Given the description of an element on the screen output the (x, y) to click on. 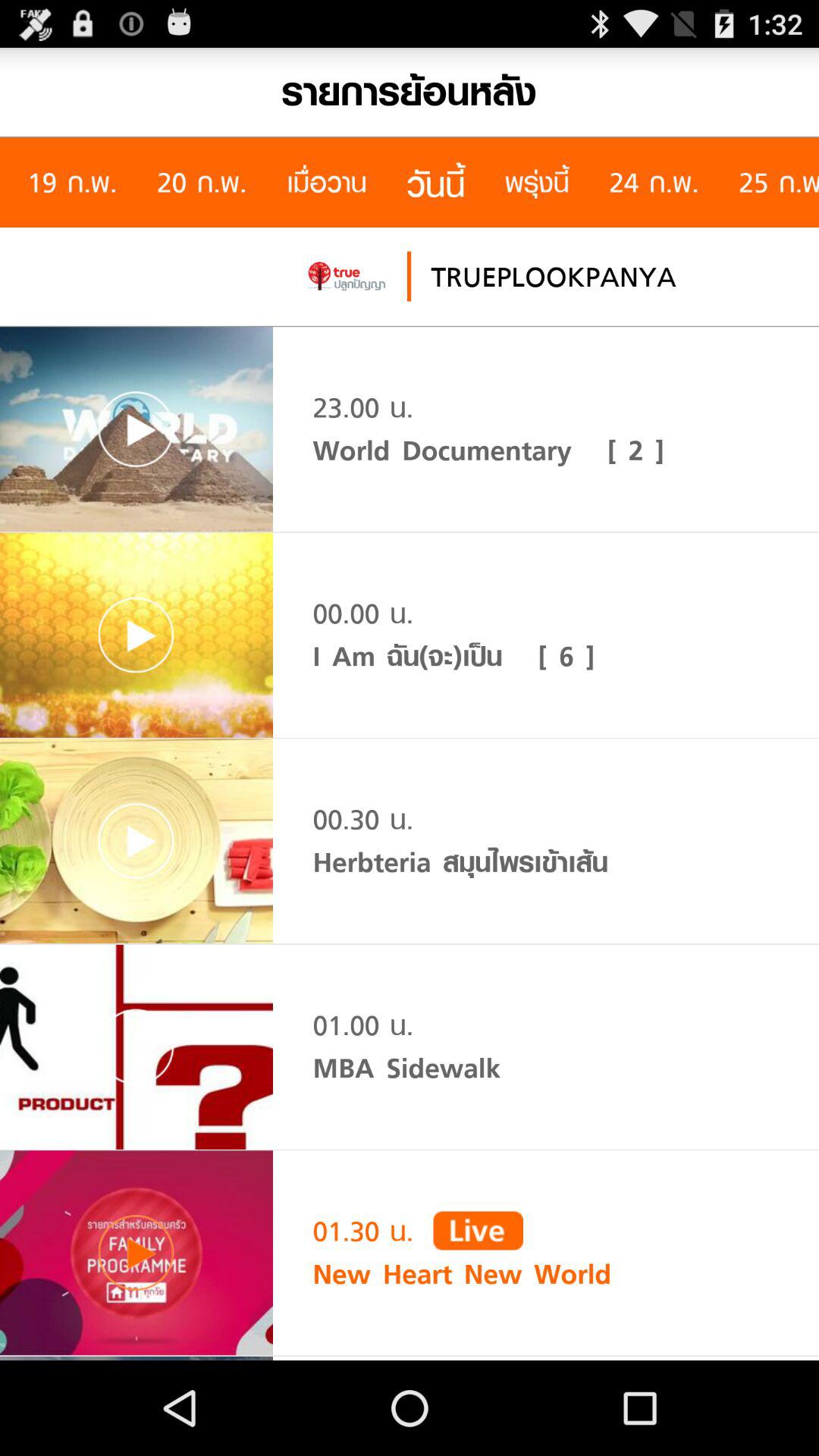
scroll until the world documentary   [ 2 ] icon (488, 450)
